Given the description of an element on the screen output the (x, y) to click on. 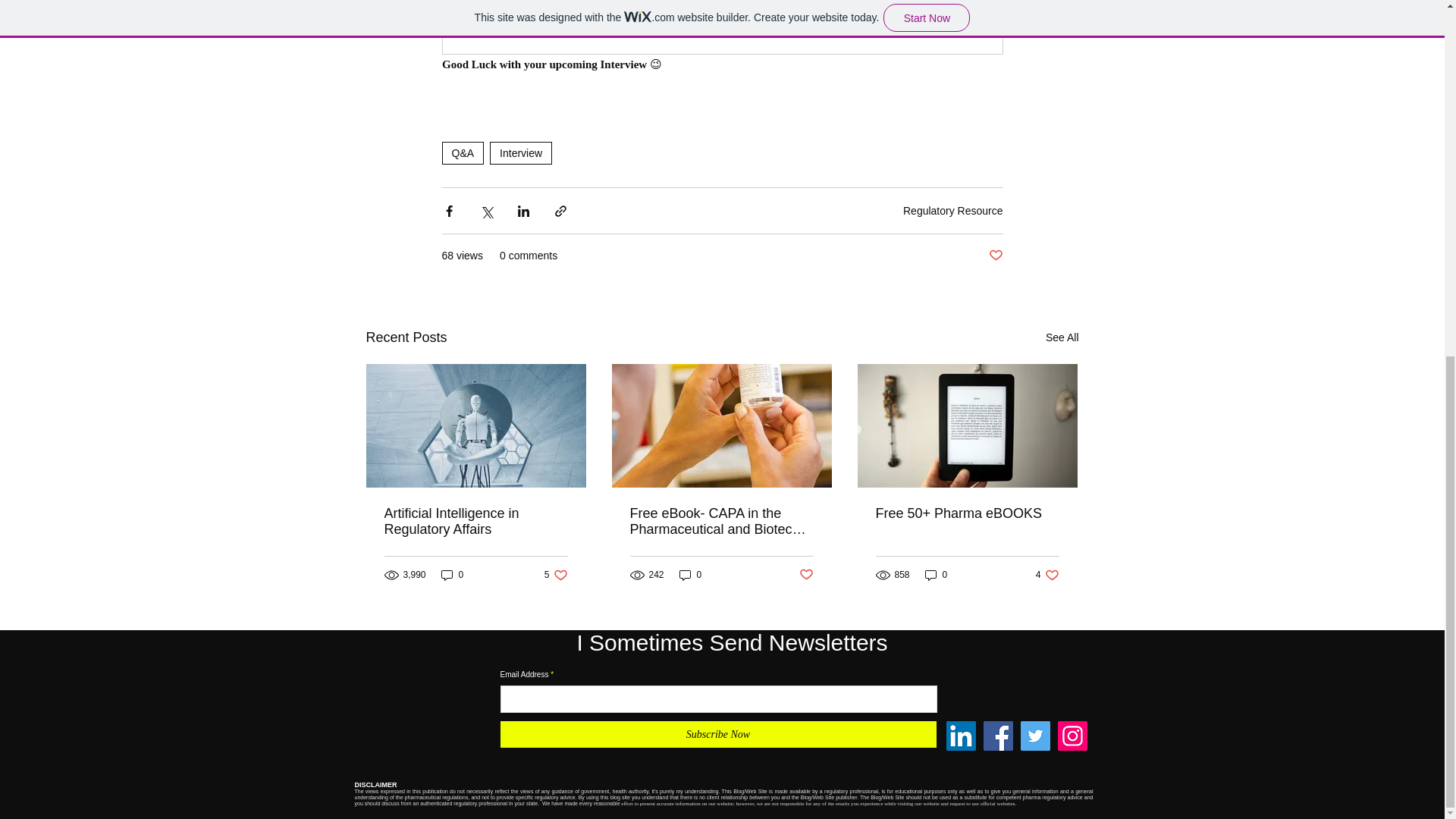
0 (452, 575)
See All (1061, 337)
Artificial Intelligence in Regulatory Affairs (475, 521)
0 (936, 575)
Post not marked as liked (995, 255)
Interview (555, 575)
0 (520, 152)
Regulatory Resource (690, 575)
